Given the description of an element on the screen output the (x, y) to click on. 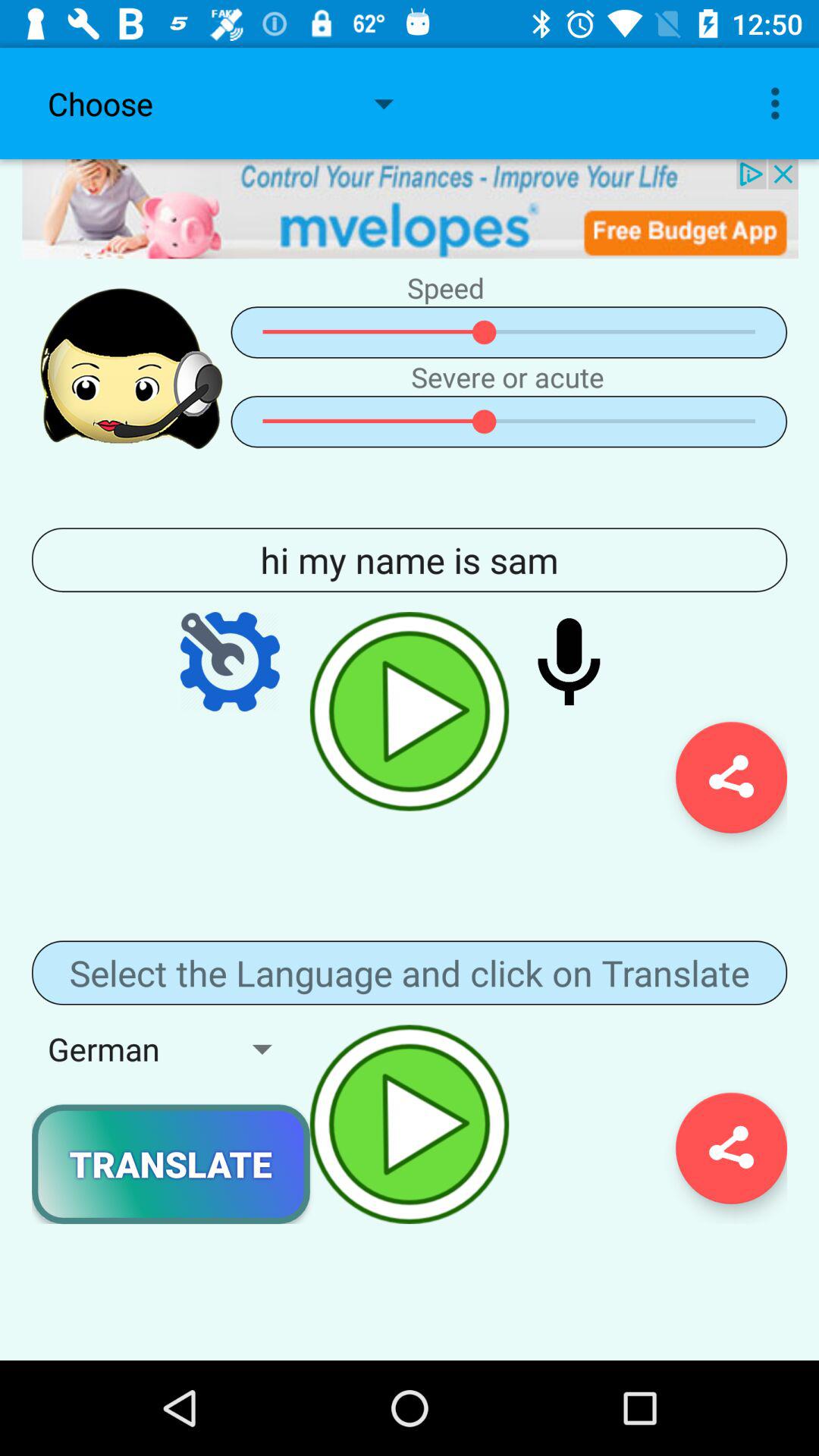
play option (409, 711)
